Given the description of an element on the screen output the (x, y) to click on. 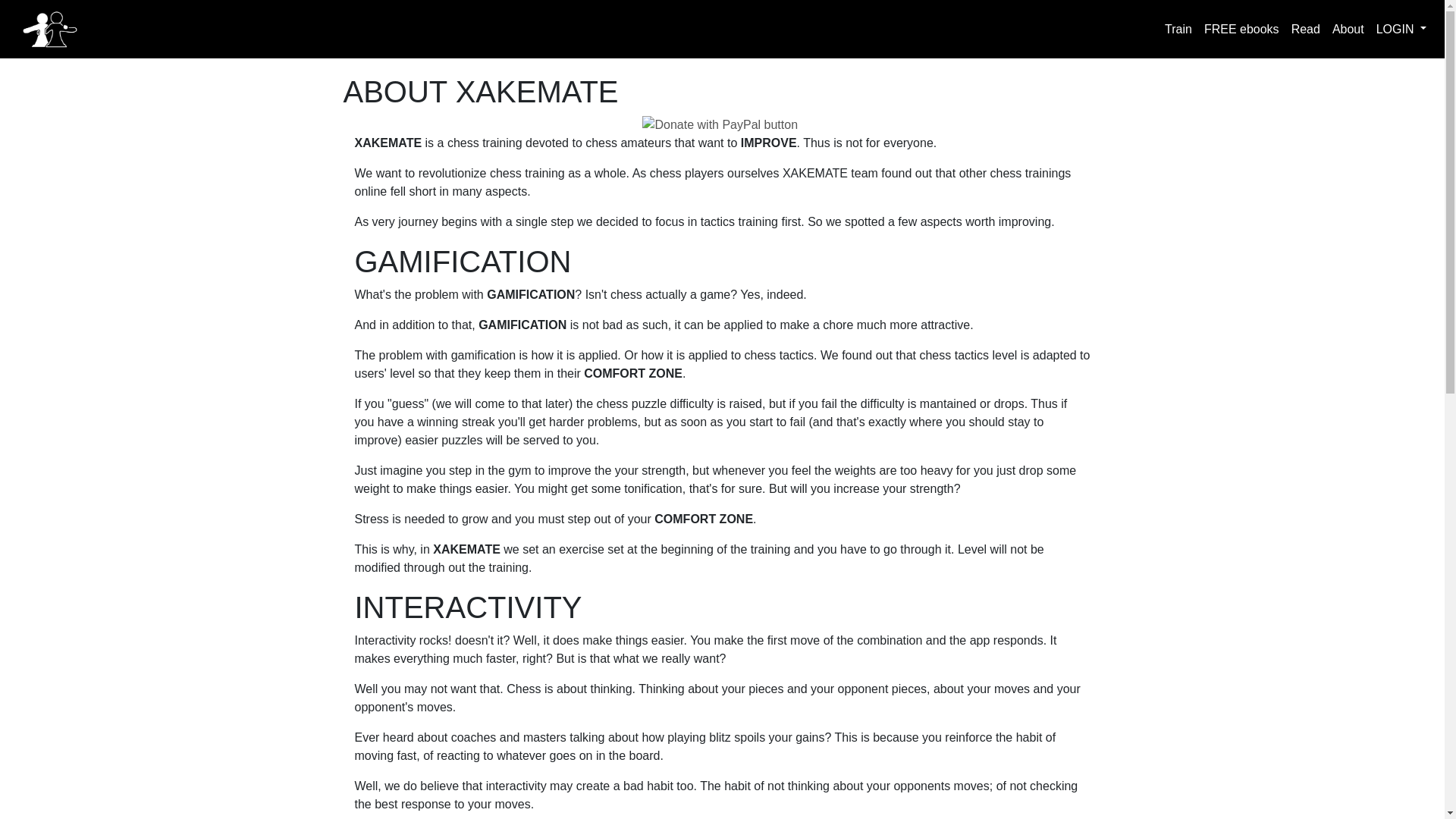
LOGIN (1401, 29)
Read (1305, 29)
About (1348, 29)
Train (1178, 29)
PayPal - The safer, easier way to pay online! (719, 125)
FREE ebooks (1241, 29)
